Given the description of an element on the screen output the (x, y) to click on. 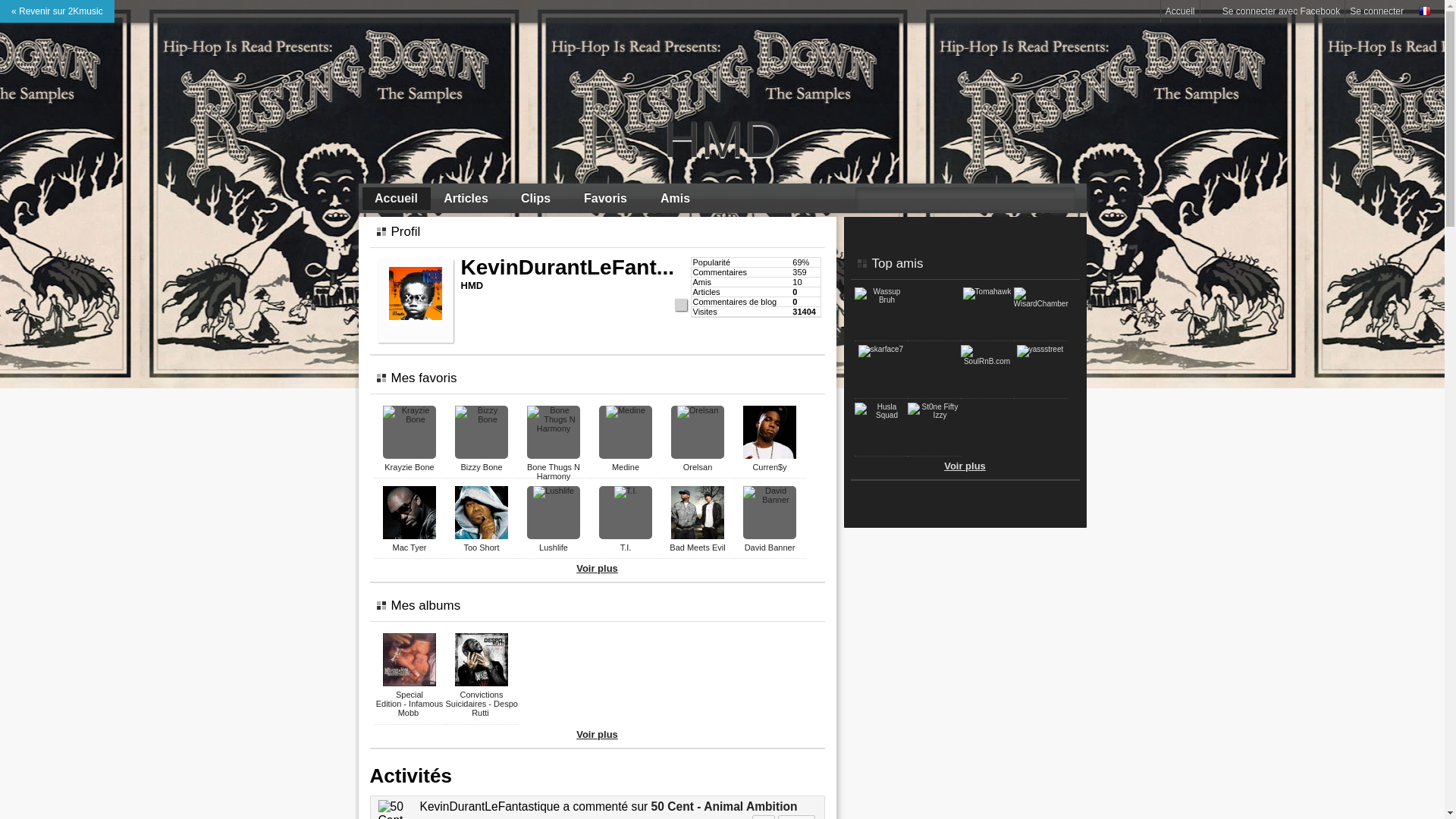
Se connecter Element type: text (1376, 11)
David Banner Element type: text (769, 547)
Curren$y Element type: text (769, 466)
dyrap Element type: hover (933, 291)
Convictions Suicidaires - Despo Rutti  Element type: text (481, 703)
Voir plus Element type: text (597, 734)
Medine Element type: text (625, 466)
  Element type: text (867, 507)
Mac Tyer Element type: text (409, 547)
Krayzie Bone Element type: text (408, 466)
Lushlife Element type: text (553, 547)
Too Short Element type: text (480, 547)
St0ne Fifty Izzy  Element type: hover (933, 415)
Tomahawk Element type: hover (987, 291)
  Element type: text (933, 349)
  Element type: text (933, 291)
Bad Meets Evil Element type: text (696, 547)
WisardChamber Element type: hover (1040, 303)
Orelsan Element type: text (697, 466)
Clips Element type: text (536, 198)
Voir plus Element type: text (964, 465)
Accueil Element type: text (396, 198)
 Se connecter avec Facebook Element type: text (1272, 11)
Bone Thugs N Harmony Element type: text (553, 471)
yassstreet Element type: hover (1039, 349)
Wassup Bruh Element type: hover (879, 299)
Articles Element type: text (466, 198)
Bizzy Bone Element type: text (481, 466)
SoulRnB.com Element type: hover (986, 361)
50 Cent - Animal Ambition Element type: text (724, 806)
Husla Squad Element type: hover (879, 415)
camer77 Element type: hover (933, 349)
Special Edition - Infamous Mobb  Element type: text (409, 703)
Favoris Element type: text (605, 198)
Amis Element type: text (675, 198)
Voir plus Element type: text (597, 568)
T.I. Element type: text (625, 547)
skarface7 Element type: hover (880, 349)
Accueil Element type: text (1180, 11)
HMD Element type: text (722, 138)
